Given the description of an element on the screen output the (x, y) to click on. 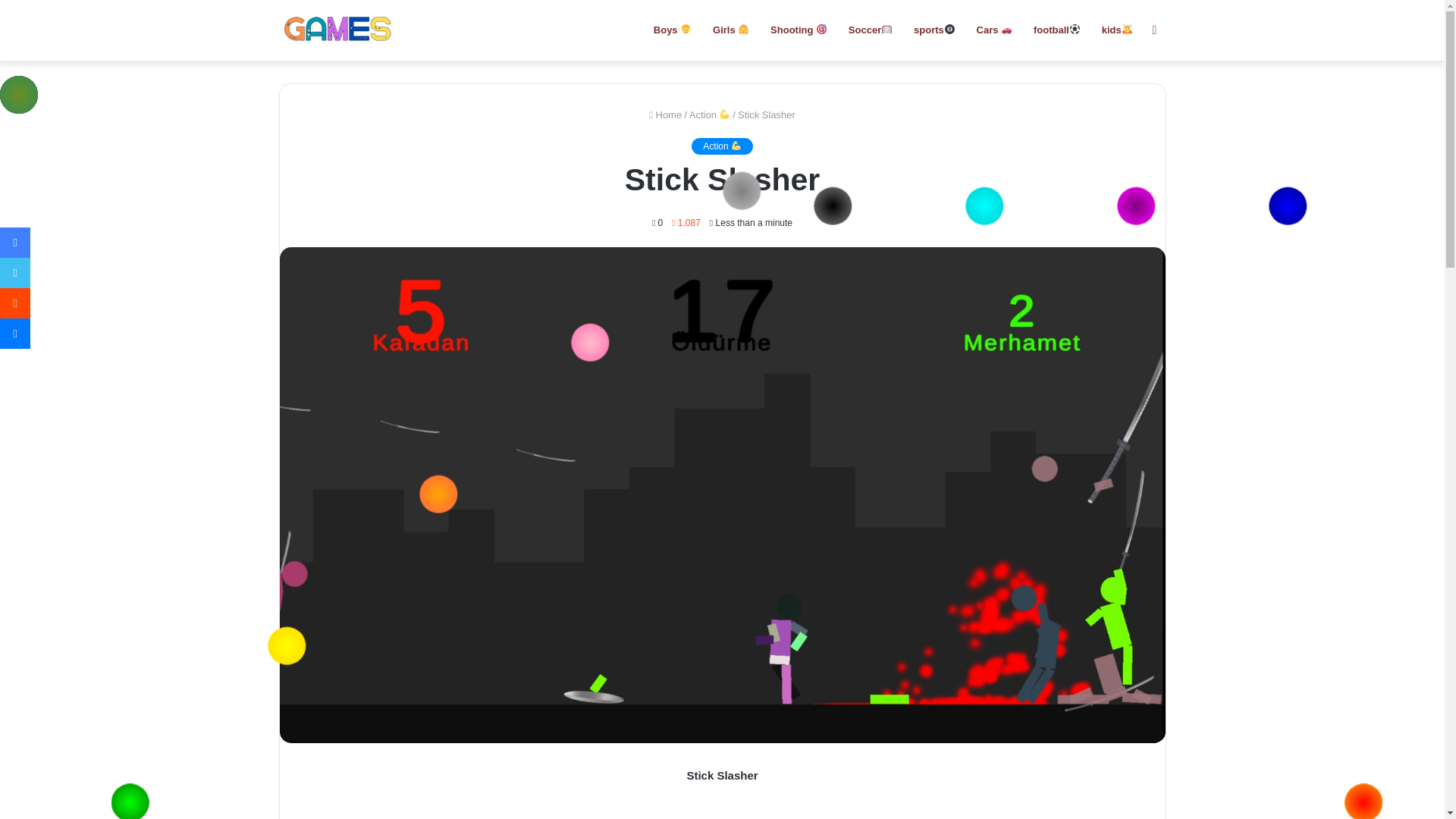
sports (934, 30)
Facebook (15, 242)
Home (665, 114)
Reddit (15, 303)
Boys (672, 30)
football (1056, 30)
Shooting (799, 30)
Action (721, 146)
Games online (336, 30)
Twitter (15, 272)
Soccer (870, 30)
Messenger (15, 333)
Cars (994, 30)
Girls (730, 30)
Action (709, 114)
